Given the description of an element on the screen output the (x, y) to click on. 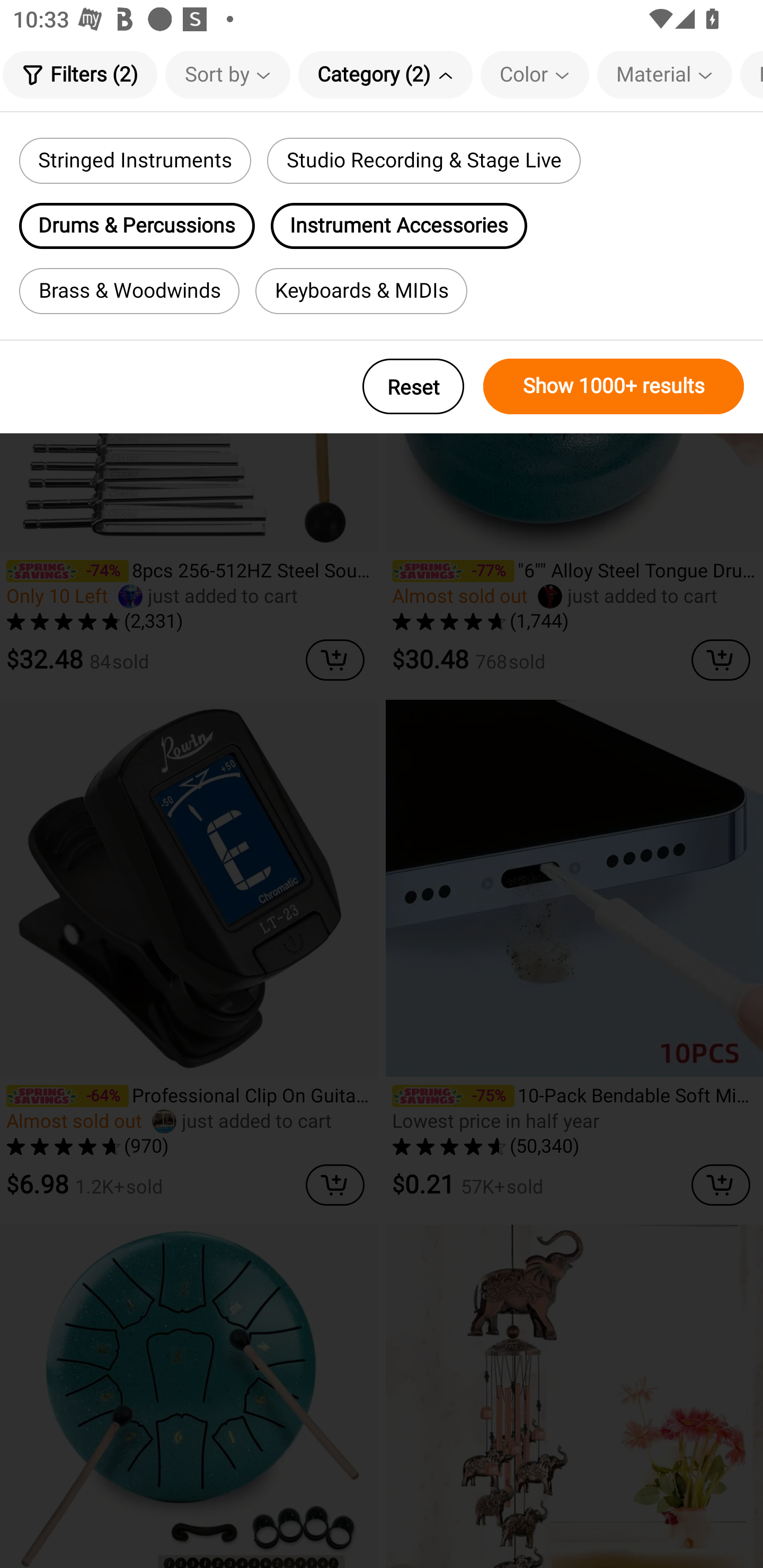
Filters (2) (79, 74)
Sort by (227, 74)
Category (2) (385, 74)
Color (534, 74)
Material (664, 74)
Stringed Instruments (135, 160)
Studio Recording & Stage Live (423, 160)
Drums & Percussions (136, 225)
Instrument Accessories (398, 225)
Brass & Woodwinds (129, 290)
Keyboards & MIDIs (360, 290)
Reset (412, 386)
Show 1000+ results (612, 386)
